Given the description of an element on the screen output the (x, y) to click on. 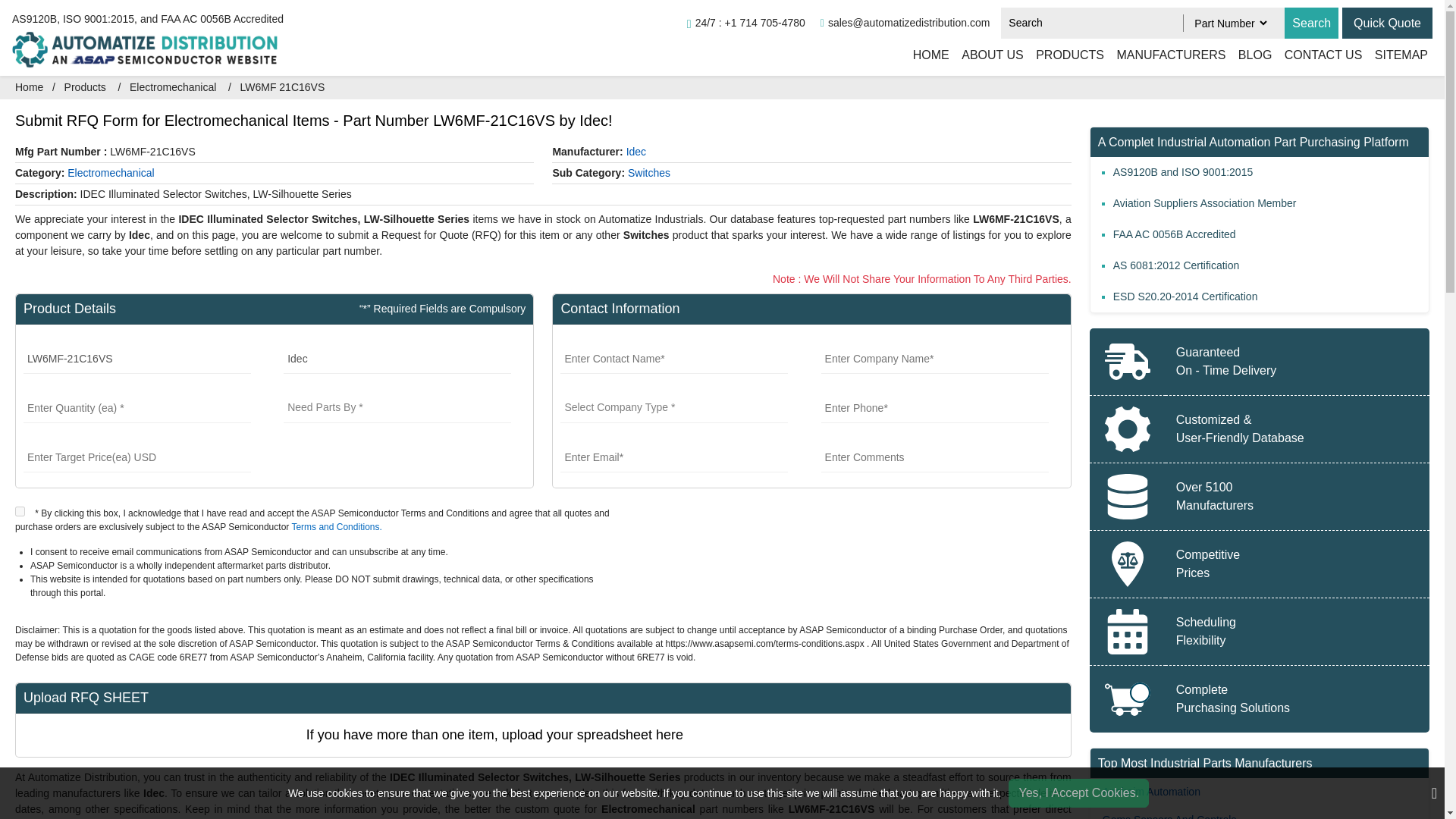
Terms and Conditions. (336, 526)
ABOUT US (991, 55)
Quick Quote (1387, 22)
Upload file (1014, 735)
Electromechanical (172, 87)
MANUFACTURERS (1171, 55)
Gems Sensors And Controls (1169, 816)
Search (1311, 22)
  SUBMIT (961, 519)
PRODUCTS (1069, 55)
